Given the description of an element on the screen output the (x, y) to click on. 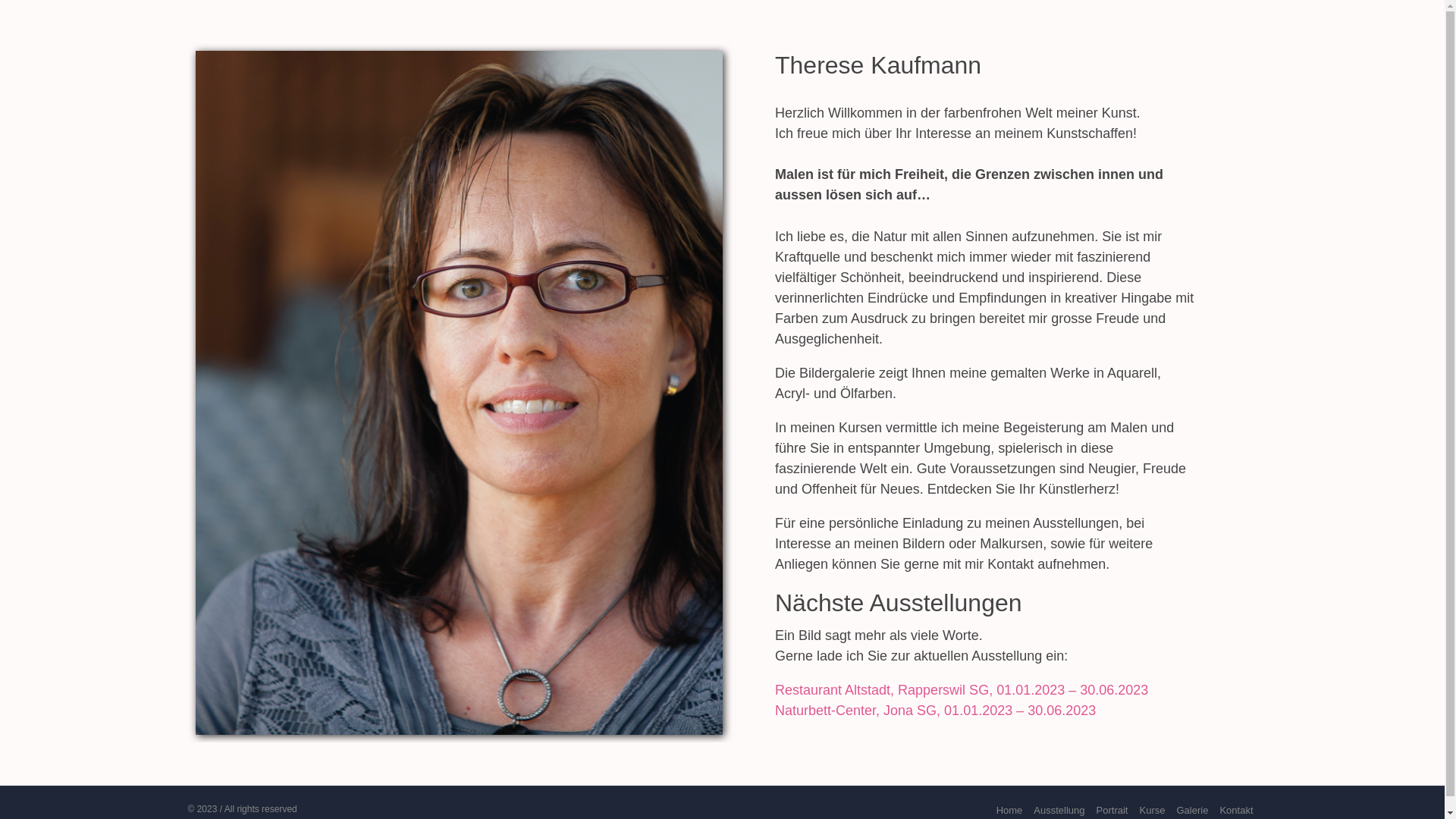
Kurse Element type: text (1151, 810)
Galerie Element type: text (1192, 810)
Ausstellung Element type: text (1058, 810)
Home Element type: text (1009, 810)
Kontakt Element type: text (1235, 810)
Portrait Element type: text (1112, 810)
